Given the description of an element on the screen output the (x, y) to click on. 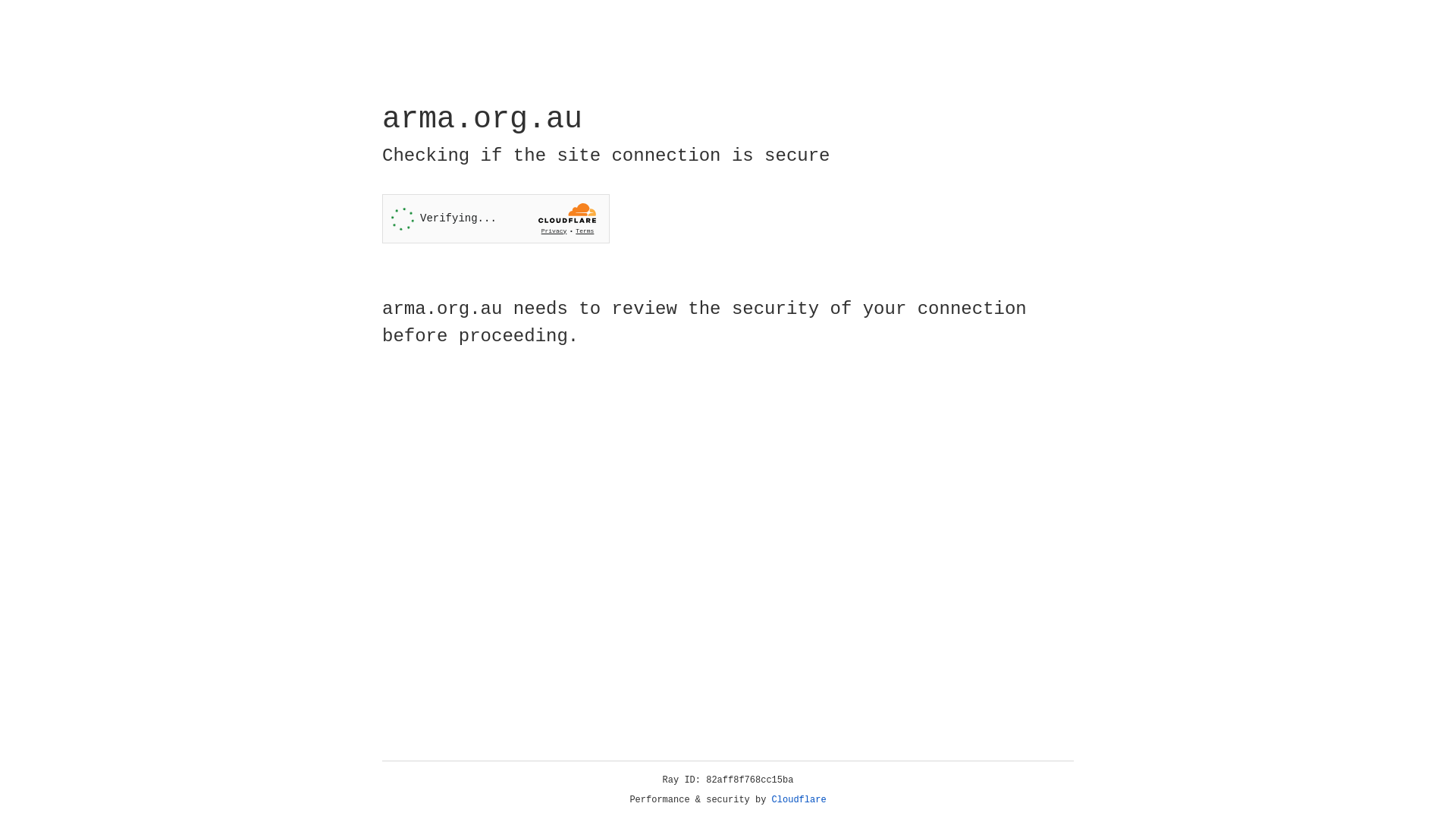
Widget containing a Cloudflare security challenge Element type: hover (495, 218)
Cloudflare Element type: text (798, 799)
